Given the description of an element on the screen output the (x, y) to click on. 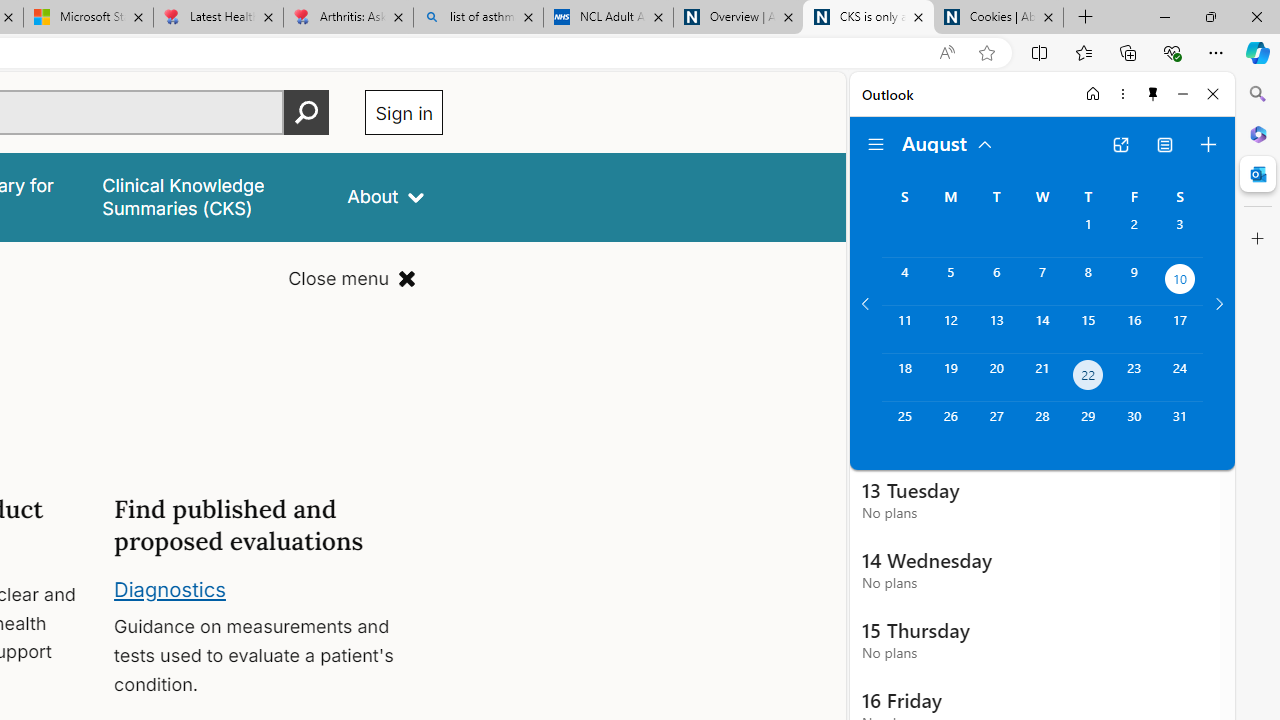
Thursday, August 8, 2024.  (1088, 281)
Unpin side pane (1153, 93)
Saturday, August 17, 2024.  (1180, 329)
Saturday, August 3, 2024.  (1180, 233)
Monday, August 26, 2024.  (950, 425)
Tuesday, August 6, 2024.  (996, 281)
Saturday, August 31, 2024.  (1180, 425)
Close Outlook pane (1258, 174)
Monday, August 19, 2024.  (950, 377)
Cookies | About | NICE (998, 17)
Wednesday, August 28, 2024.  (1042, 425)
Sunday, August 4, 2024.  (904, 281)
